Given the description of an element on the screen output the (x, y) to click on. 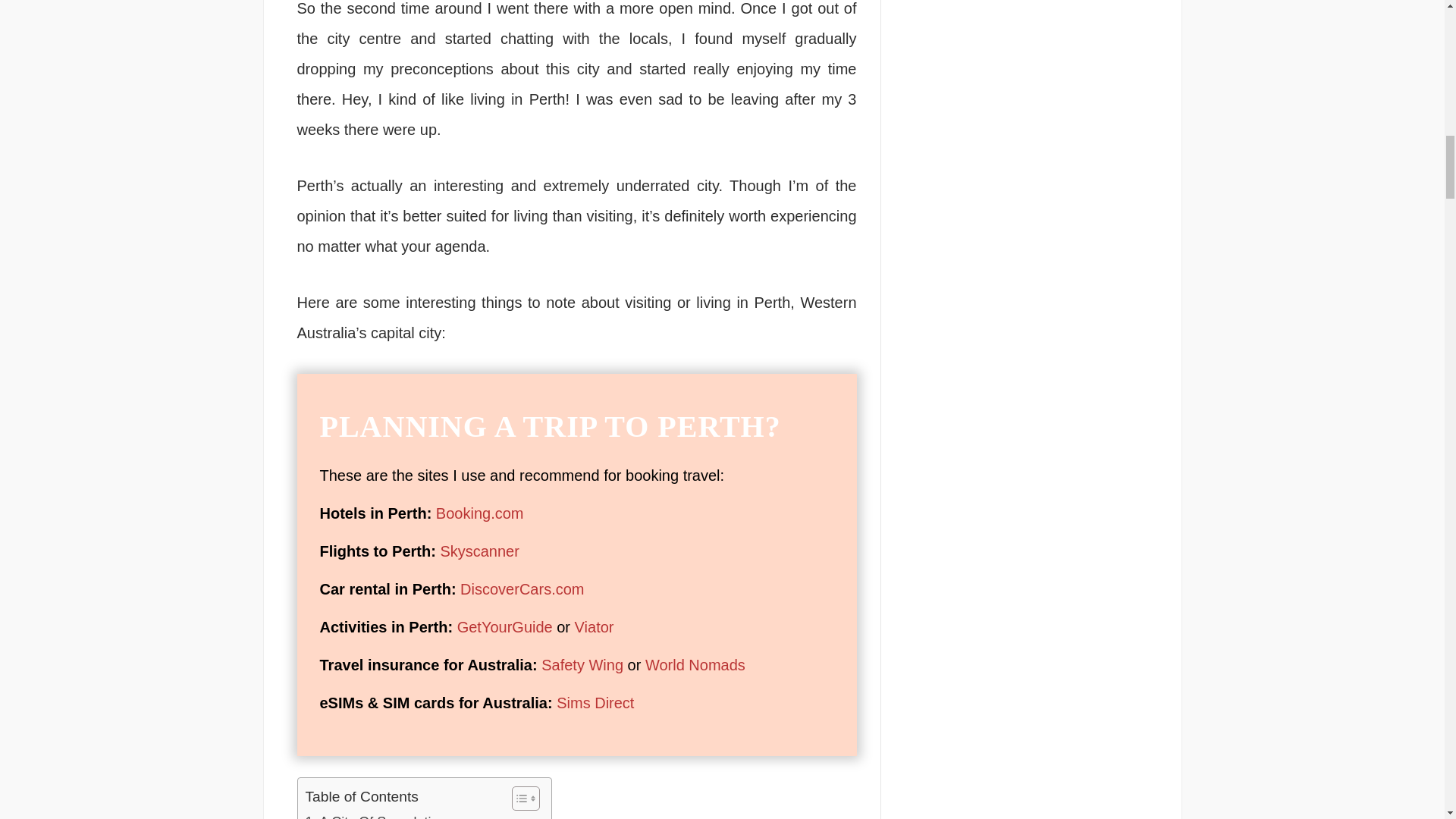
A City Of Superlatives (377, 815)
